Given the description of an element on the screen output the (x, y) to click on. 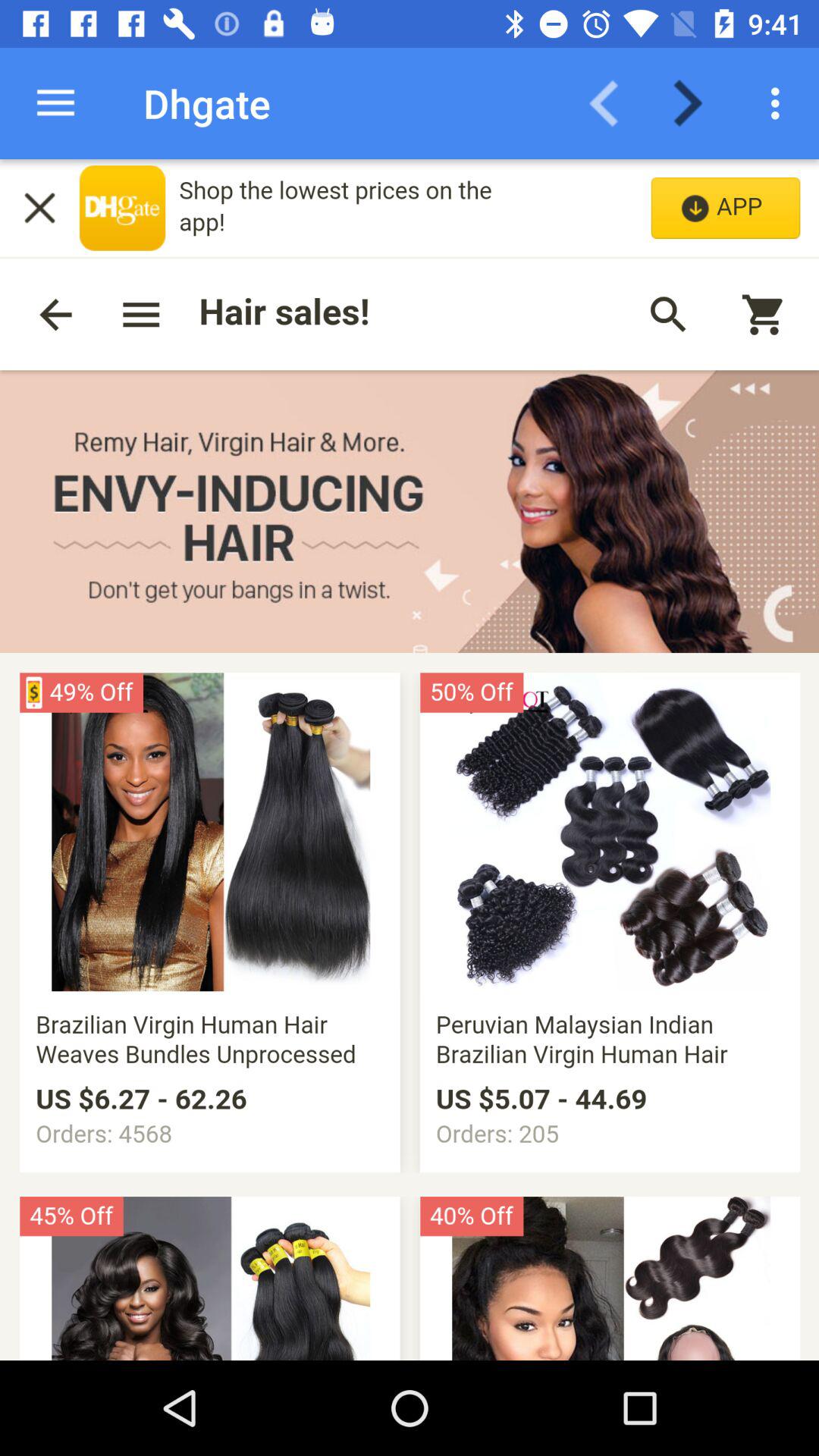
review this site (409, 759)
